Given the description of an element on the screen output the (x, y) to click on. 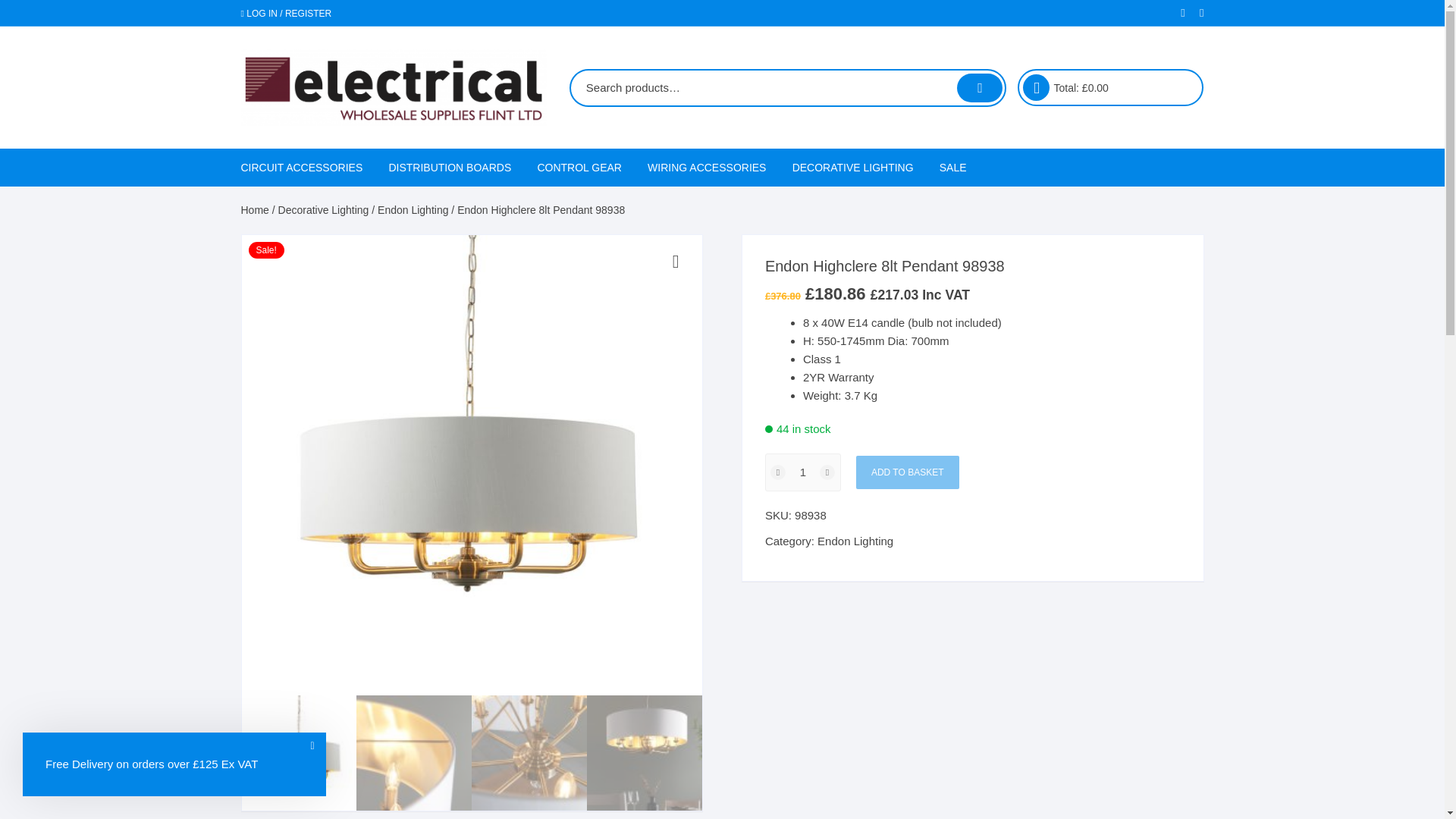
DISTRIBUTION BOARDS (449, 167)
MK Decorative (919, 277)
MK Metal Clad (919, 349)
CIRCUIT ACCESSORIES (307, 167)
CONTROL GEAR (579, 167)
Searchlight Electric (875, 240)
Raised Edge Grid Accessories (1109, 256)
Knightsbridge (730, 204)
The Bella Collection (875, 204)
Selectric 5M (730, 240)
DECORATIVE LIGHTING (852, 167)
WIRING ACCESSORIES (706, 167)
MK Accessories (919, 313)
Schneider Lisse Decorative (730, 386)
Endon Lighting (875, 277)
